Given the description of an element on the screen output the (x, y) to click on. 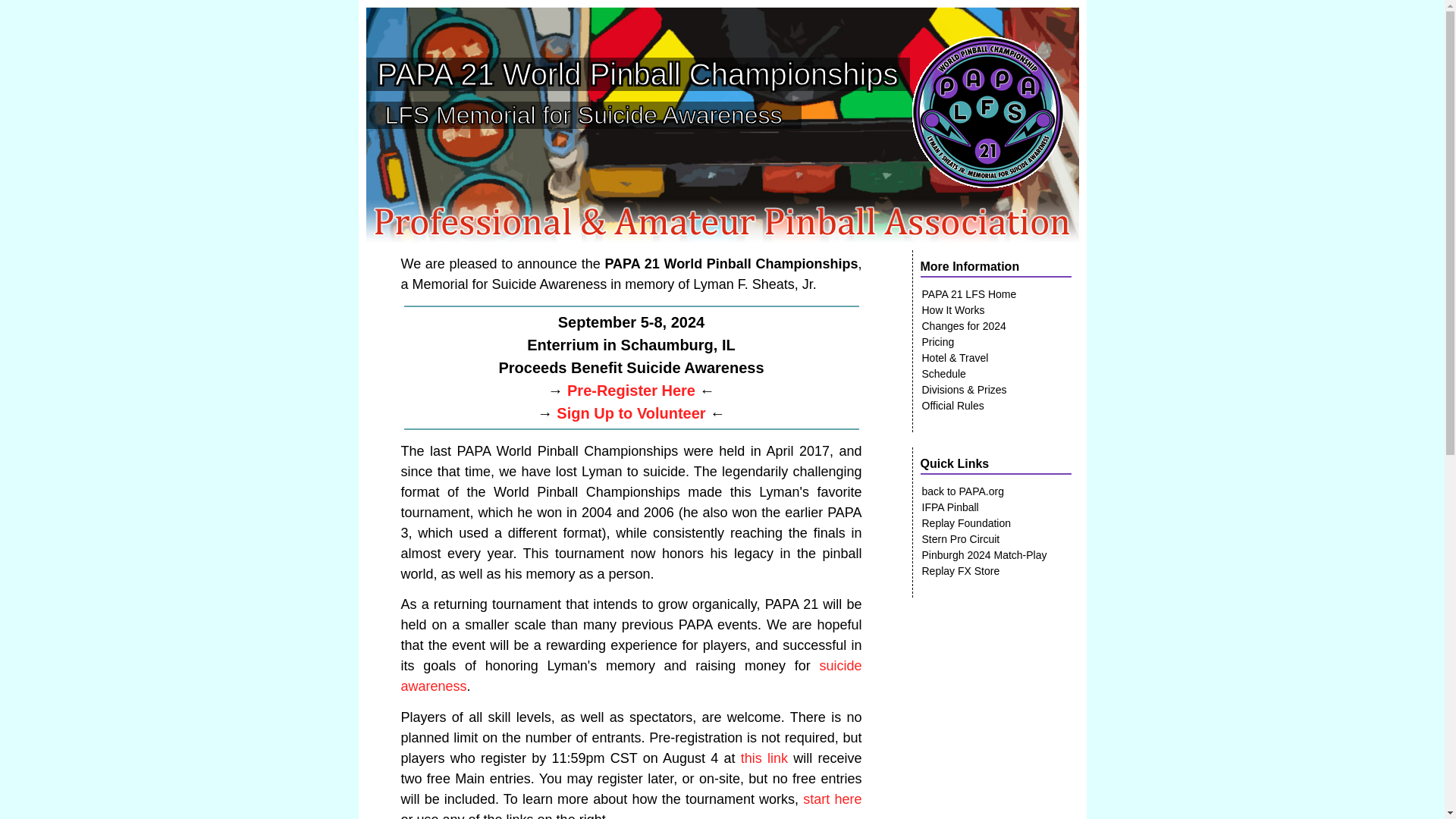
Official Rules (952, 405)
back to PAPA.org (963, 491)
suicide awareness (630, 675)
Changes for 2024 (963, 325)
Replay FX Store (960, 570)
this link (764, 758)
Schedule (944, 373)
IFPA Pinball (949, 506)
Sign Up to Volunteer (630, 412)
Pre-Register Here (631, 390)
Stern Pro Circuit (960, 538)
Pinburgh 2024 Match-Play (984, 554)
How It Works (953, 309)
PAPA 21 LFS Home (968, 294)
Pricing (938, 341)
